Given the description of an element on the screen output the (x, y) to click on. 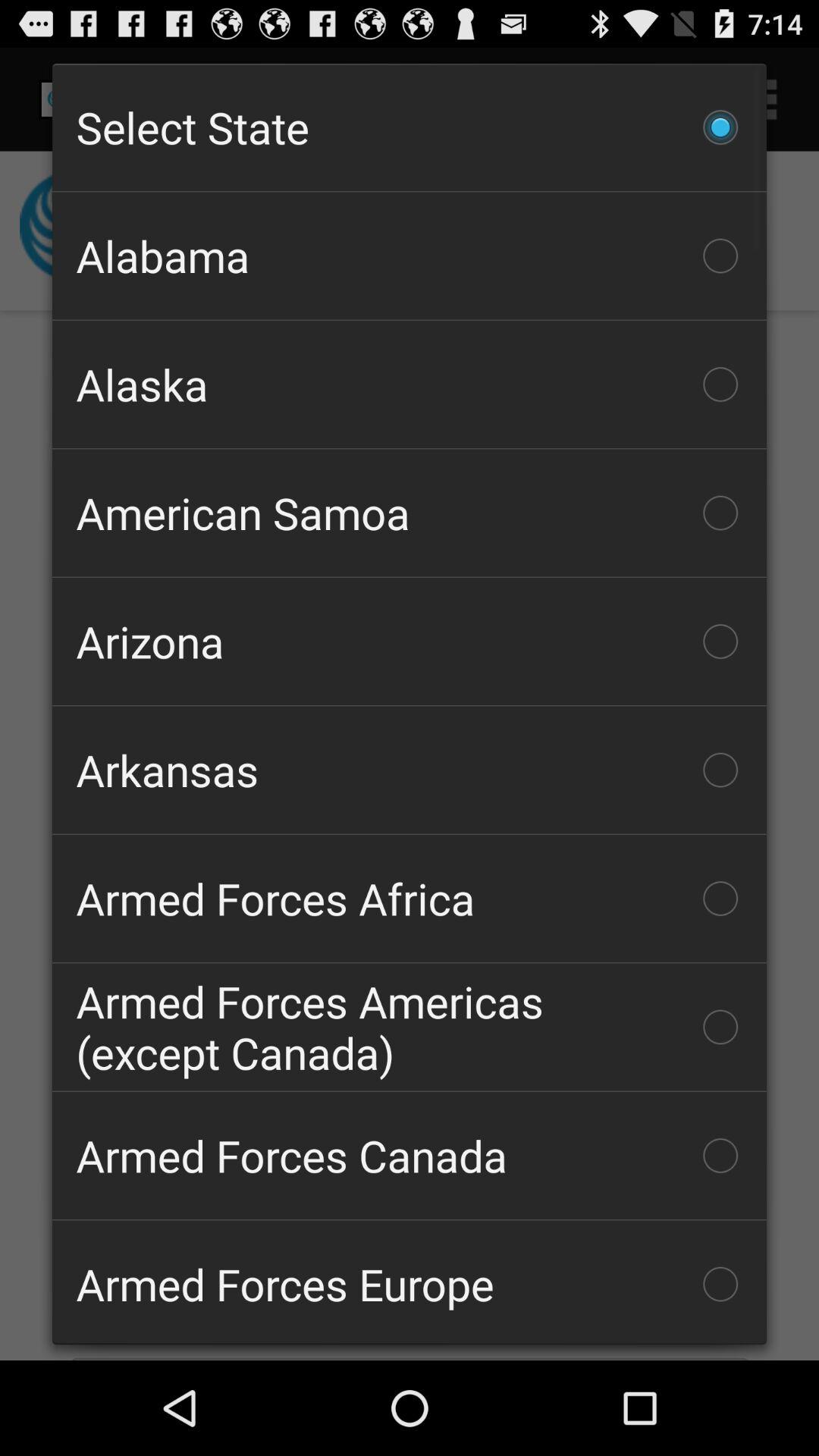
choose the arkansas checkbox (409, 769)
